Given the description of an element on the screen output the (x, y) to click on. 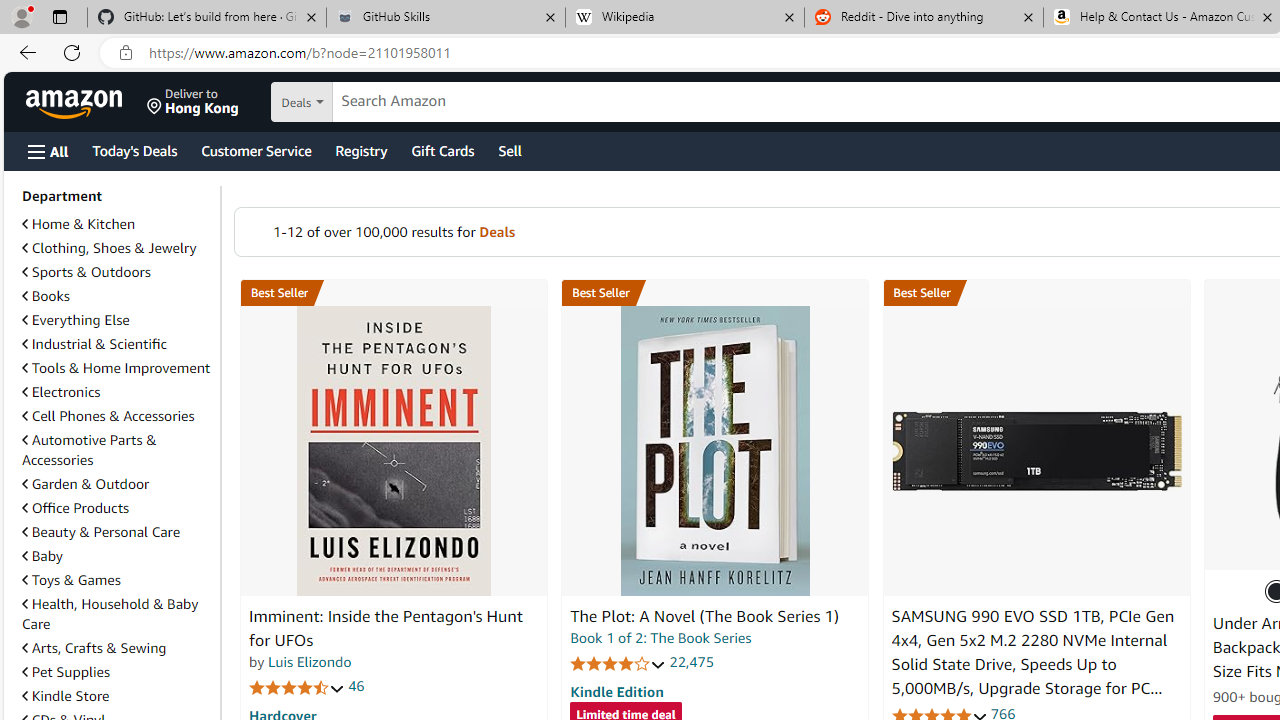
Beauty & Personal Care (117, 532)
Garden & Outdoor (85, 484)
Today's Deals (134, 150)
Books (45, 296)
Best Seller in Heist Thrillers (715, 293)
Clothing, Shoes & Jewelry (109, 248)
Automotive Parts & Accessories (117, 449)
Sports & Outdoors (86, 271)
Sell (509, 150)
Automotive Parts & Accessories (89, 449)
Health, Household & Baby Care (109, 613)
Gift Cards (442, 150)
Tools & Home Improvement (117, 367)
Cell Phones & Accessories (117, 416)
